Given the description of an element on the screen output the (x, y) to click on. 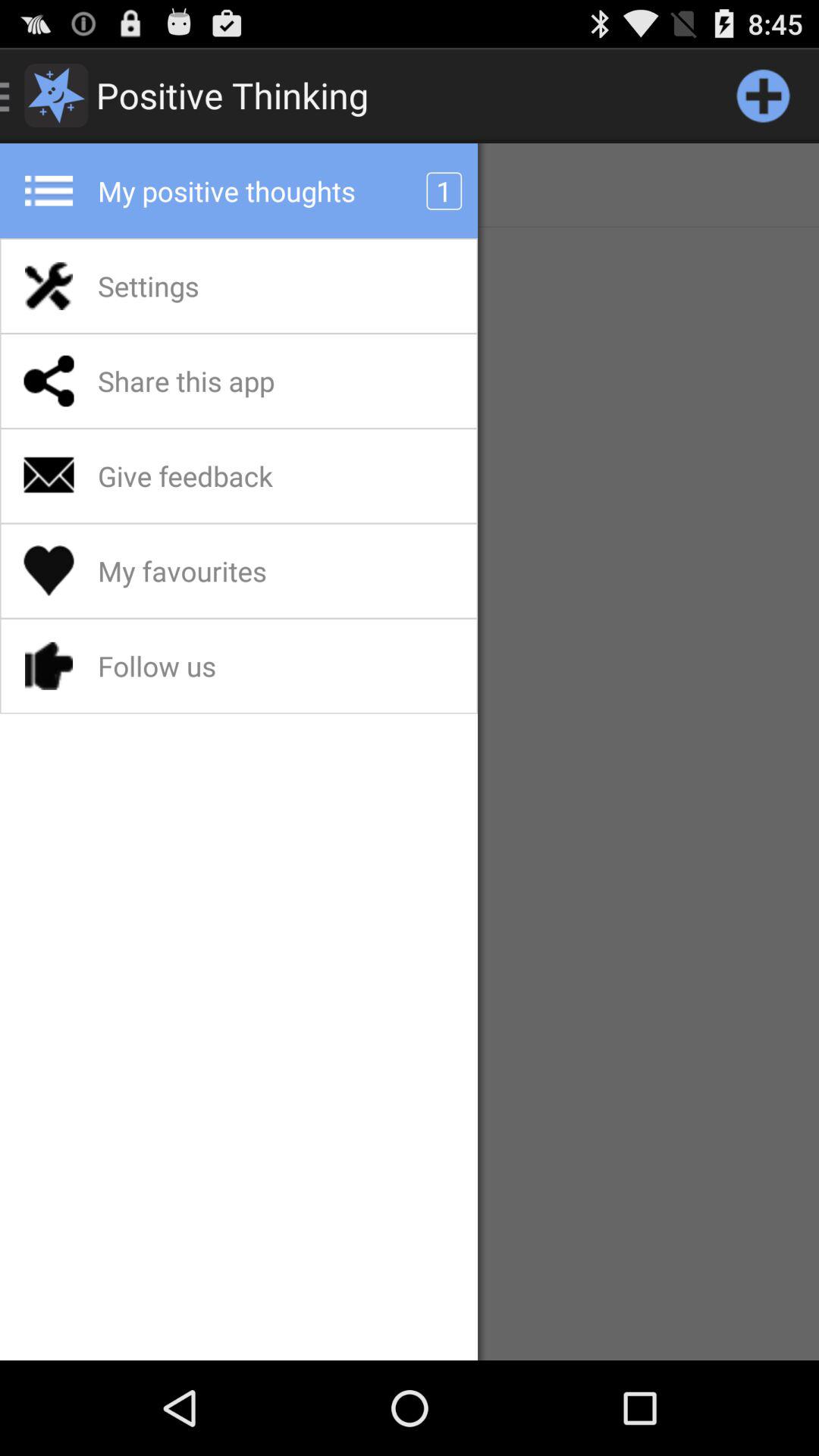
scroll until my favourites (221, 570)
